Given the description of an element on the screen output the (x, y) to click on. 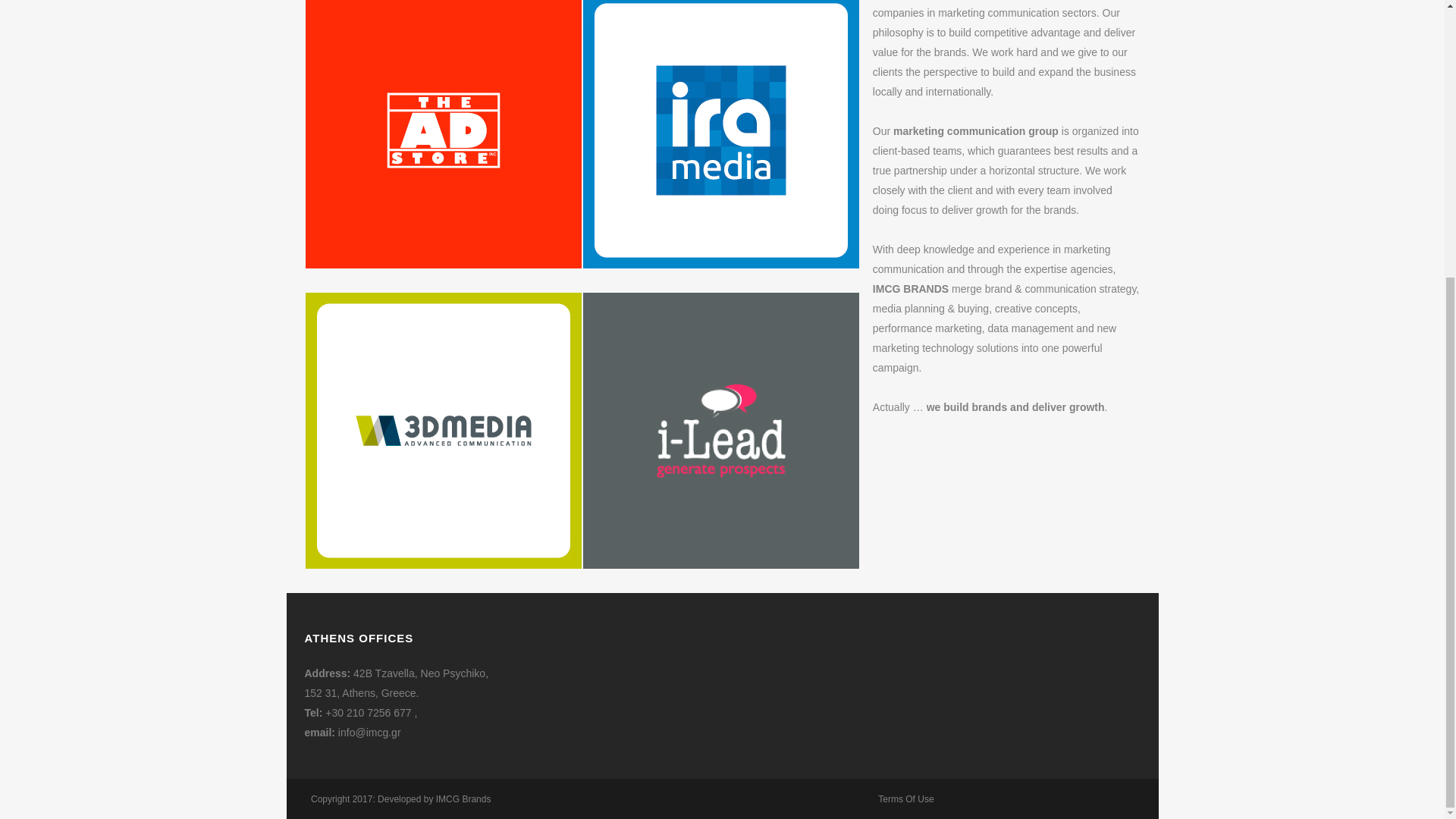
Terms Of Use (905, 798)
